Given the description of an element on the screen output the (x, y) to click on. 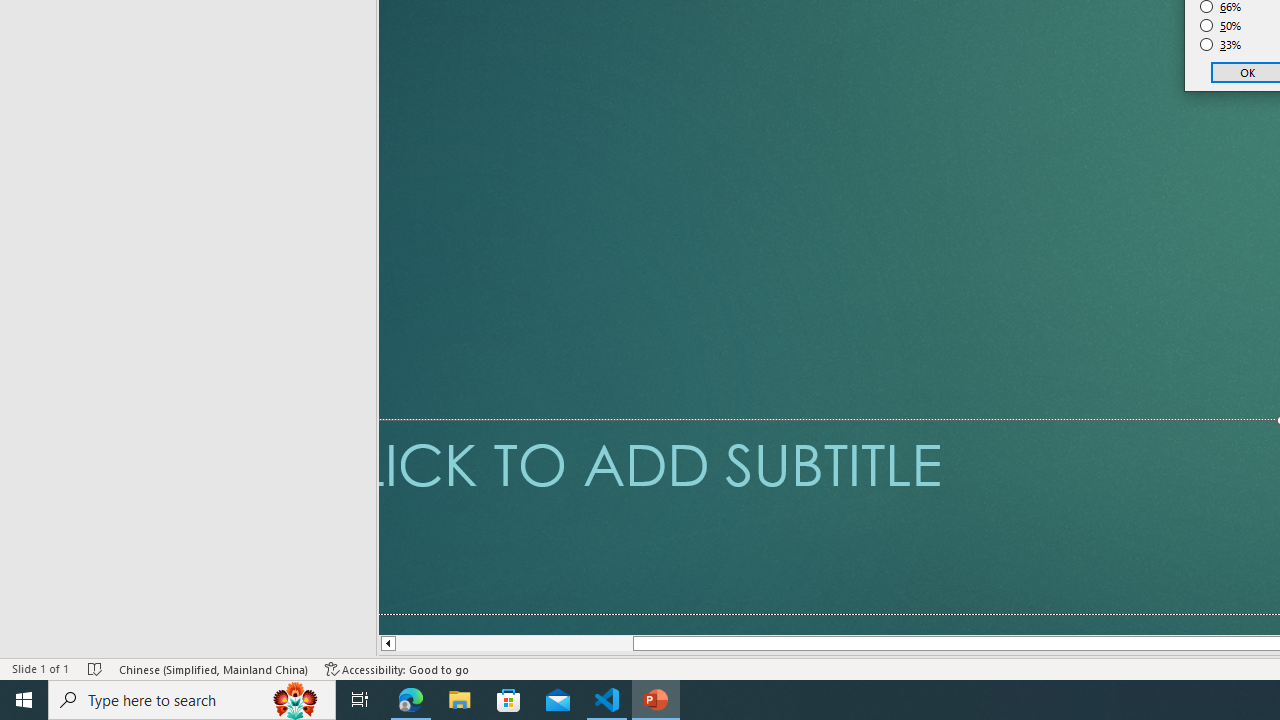
Accessibility Checker Accessibility: Good to go (397, 668)
Microsoft Edge - 1 running window (411, 699)
33% (1221, 44)
50% (1221, 25)
